Given the description of an element on the screen output the (x, y) to click on. 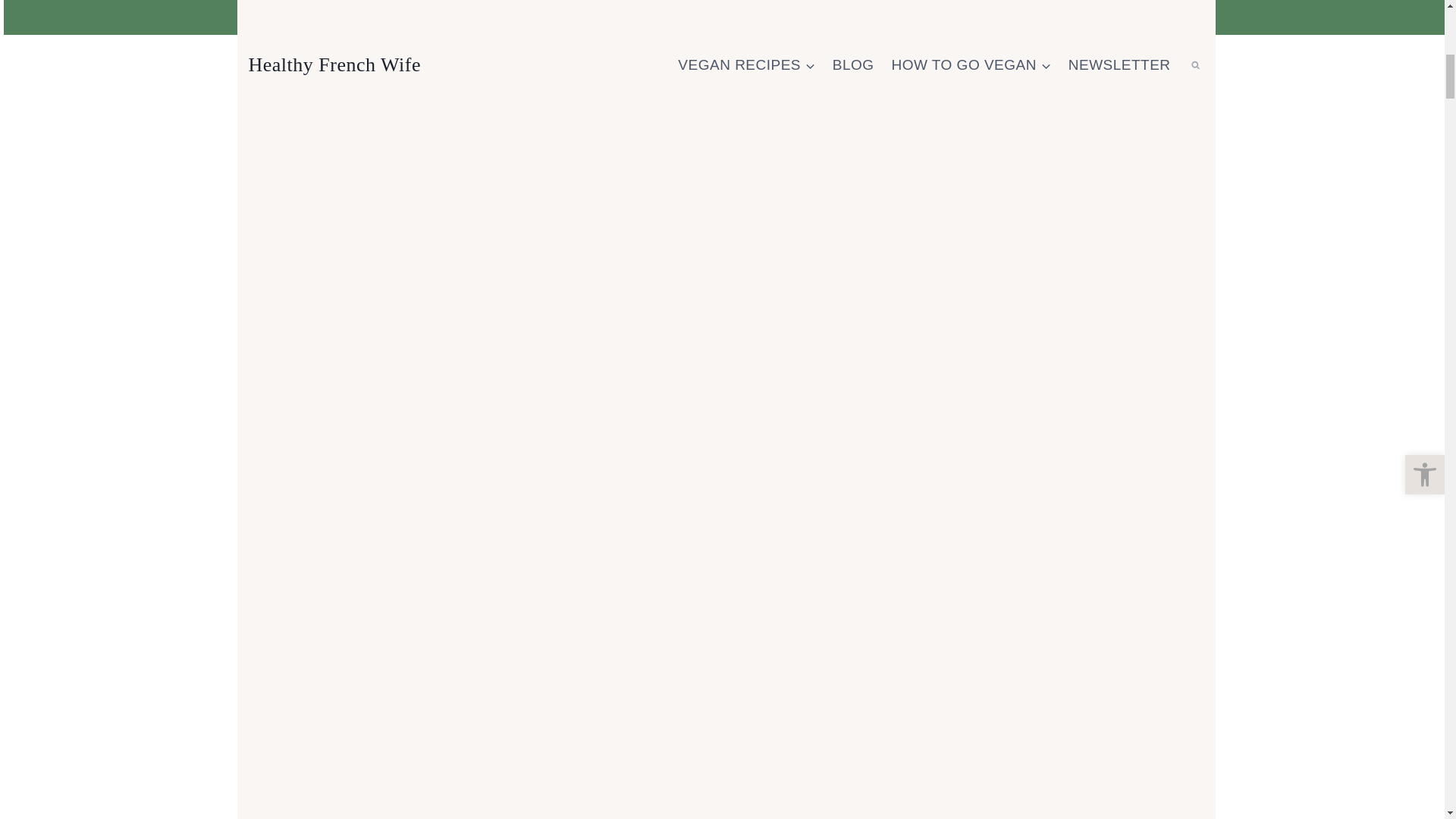
BLOG (853, 65)
HOW TO GO VEGAN (970, 65)
VEGAN RECIPES (746, 65)
Healthy French Wife (334, 64)
NEWSLETTER (1119, 65)
